Given the description of an element on the screen output the (x, y) to click on. 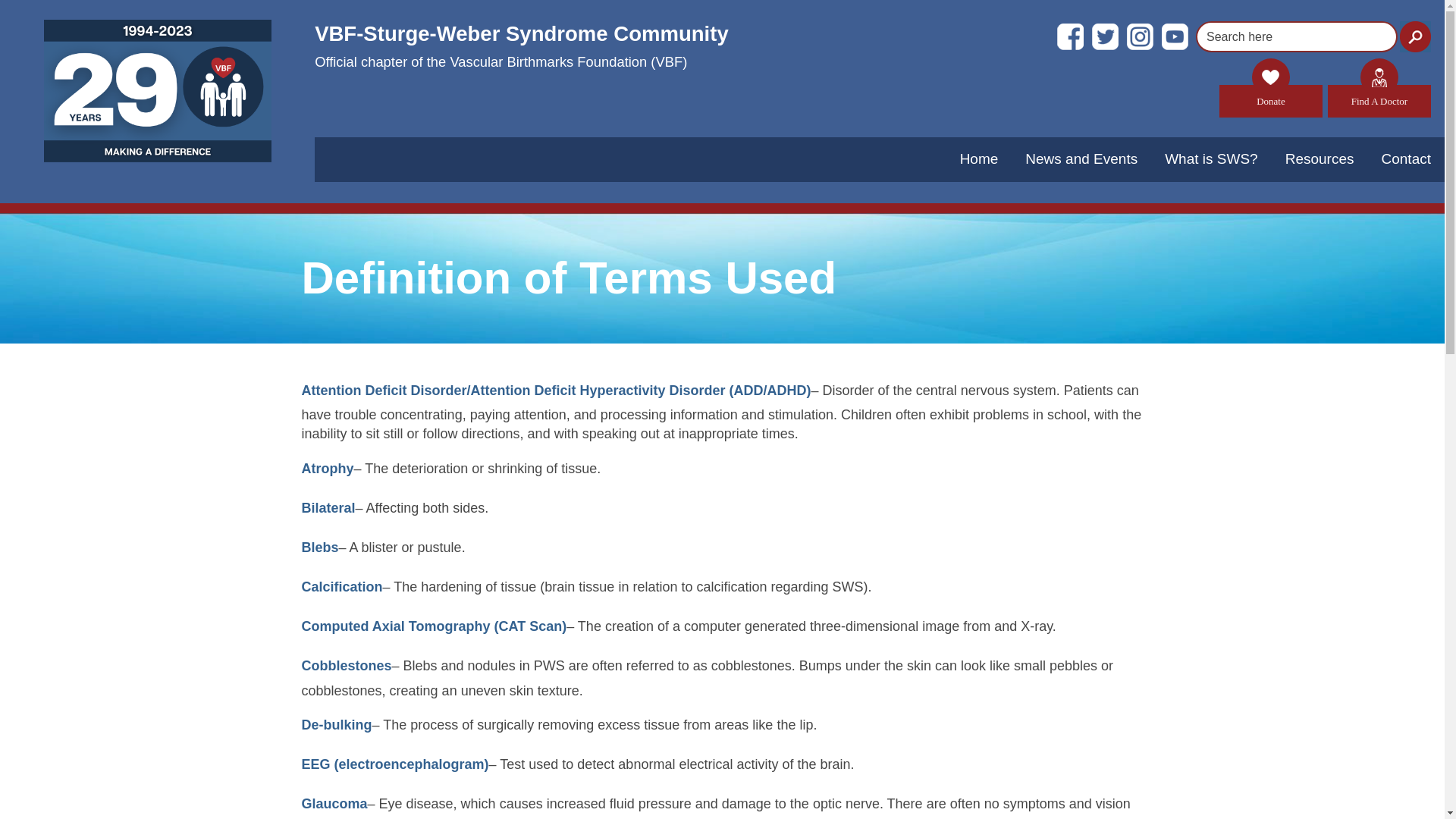
What is SWS? (1210, 158)
Resources (1319, 158)
News and Events (1081, 158)
Contact (1406, 158)
Donate (1271, 101)
Home (978, 158)
Find A Doctor (1379, 101)
